Given the description of an element on the screen output the (x, y) to click on. 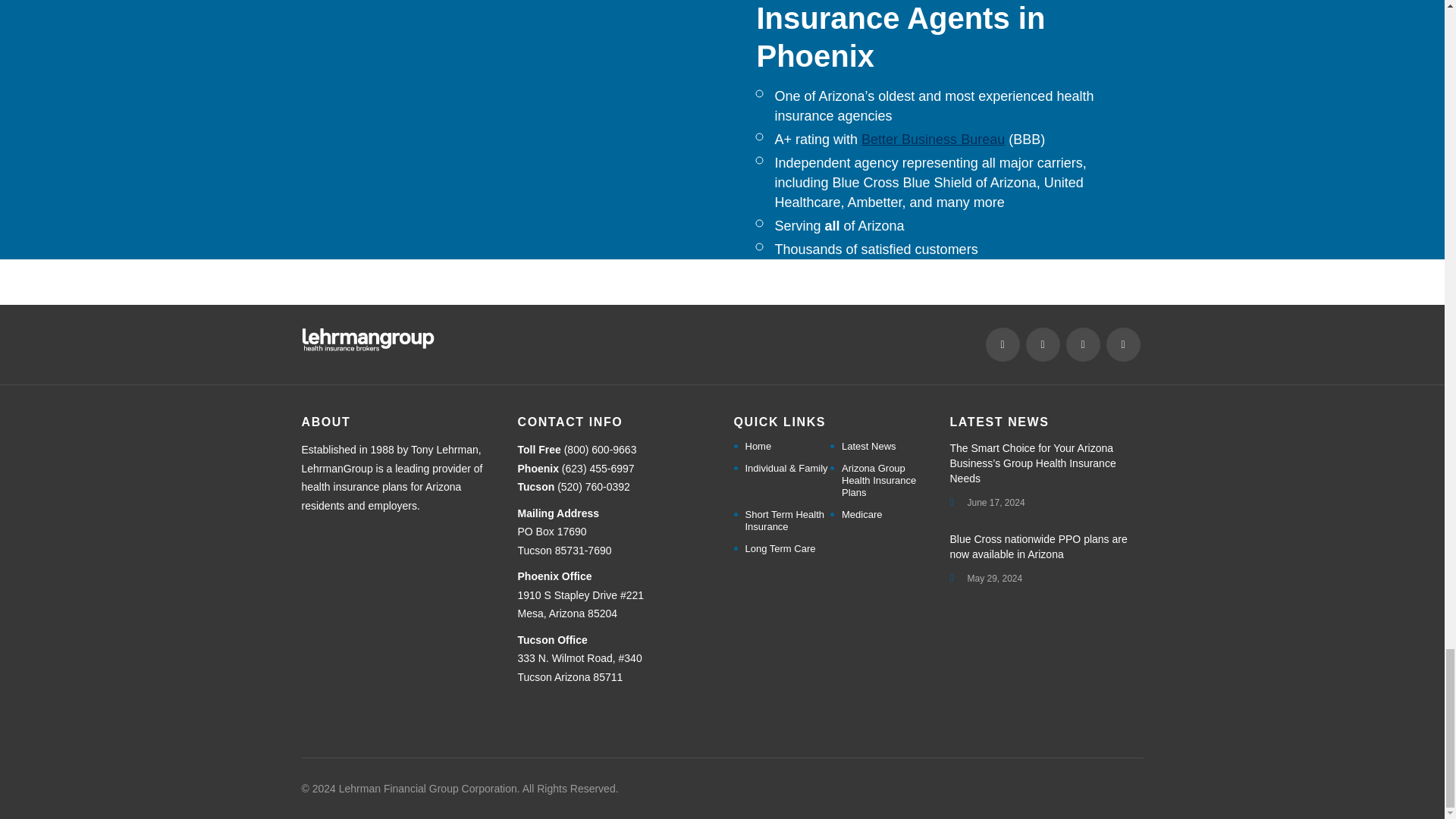
Long Term Care (779, 548)
Medicare (861, 514)
Short Term Health Insurance (786, 520)
Better Business Bureau (932, 139)
Arizona Group Health Insurance Plans (884, 480)
Latest News (868, 446)
Home (757, 446)
